Given the description of an element on the screen output the (x, y) to click on. 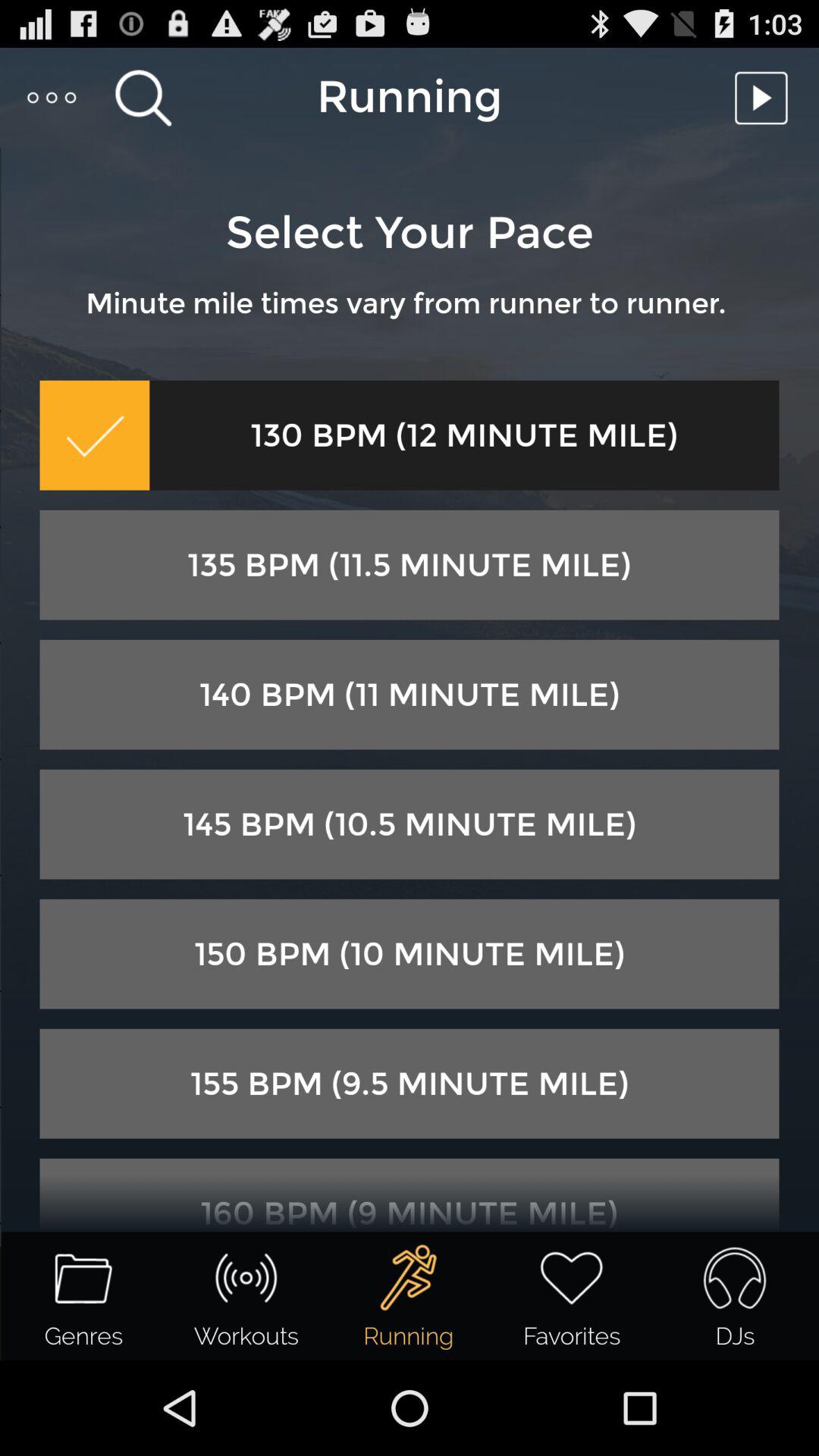
choose the icon below minute mile times item (464, 435)
